Given the description of an element on the screen output the (x, y) to click on. 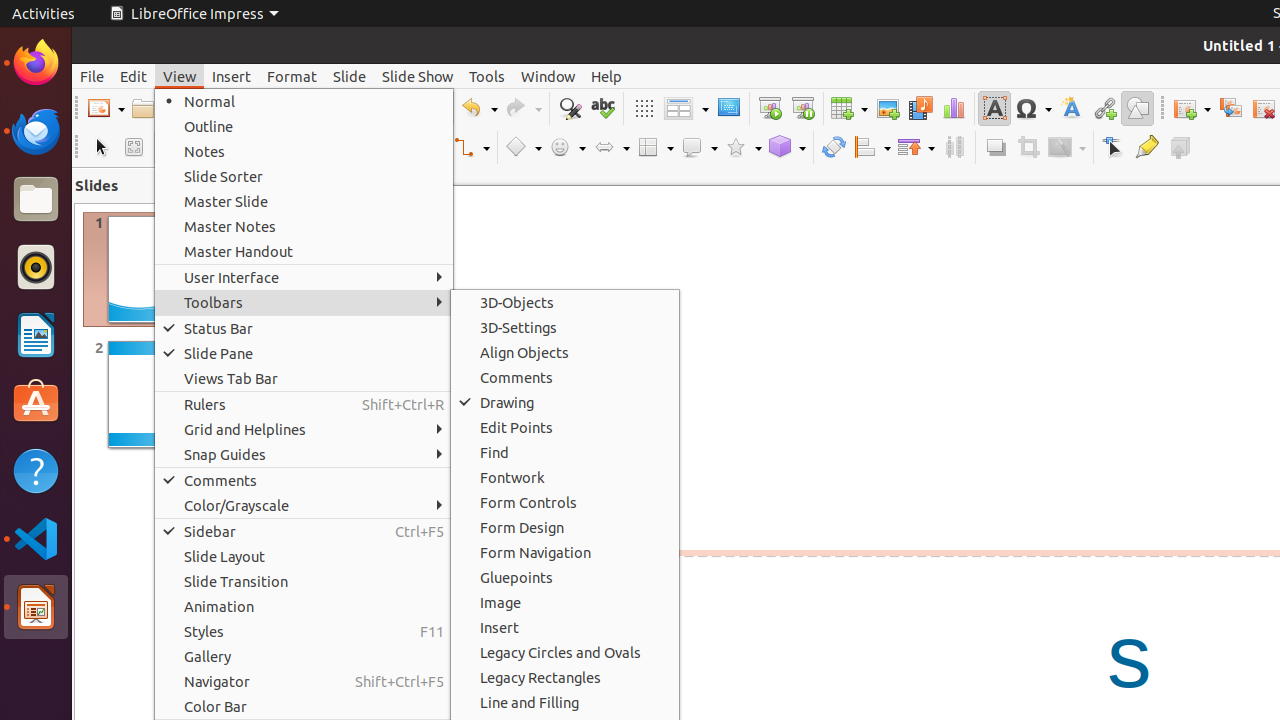
Outline Element type: radio-menu-item (304, 126)
Window Element type: menu (548, 76)
Snap Guides Element type: menu (304, 454)
Color Bar Element type: check-menu-item (304, 706)
